Given the description of an element on the screen output the (x, y) to click on. 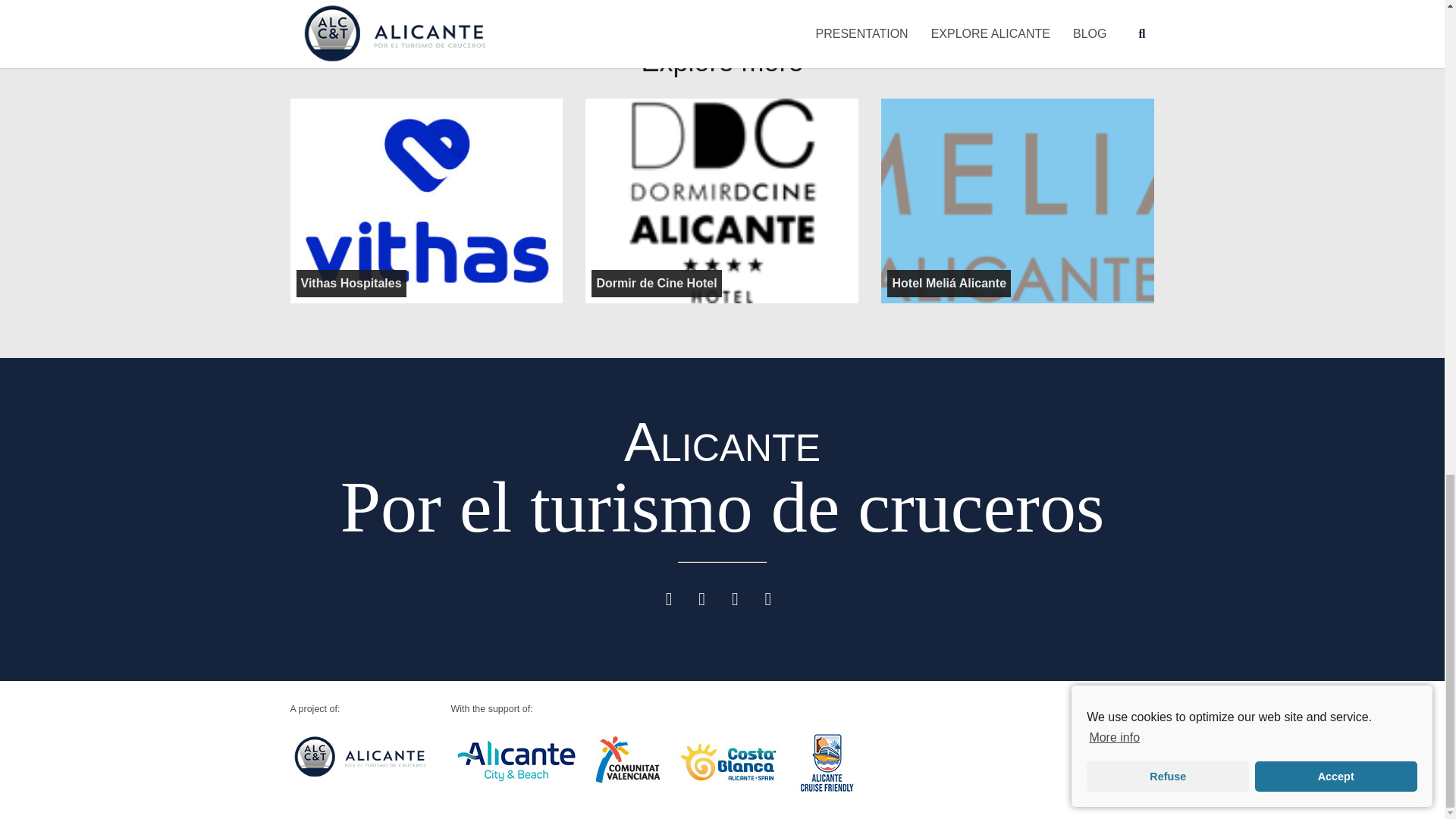
Privacy policy (1116, 752)
Cookies policy (1114, 775)
Vithas Hospitales (350, 283)
Dormir de Cine Hotel (655, 283)
Legal advice (1119, 730)
